Given the description of an element on the screen output the (x, y) to click on. 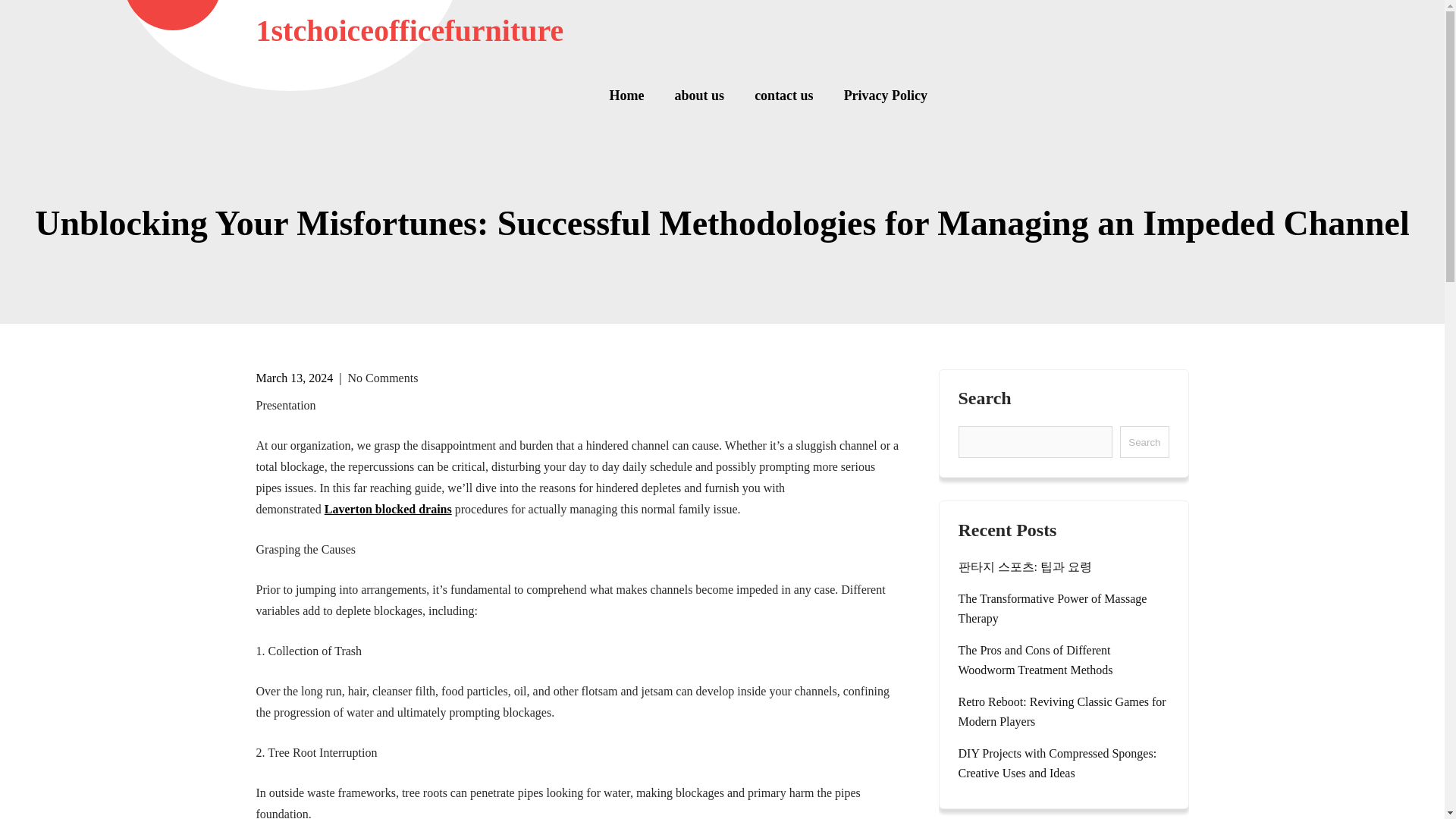
about us (699, 95)
Retro Reboot: Reviving Classic Games for Modern Players (1063, 712)
Laverton blocked drains (387, 508)
Search (1144, 441)
contact us (783, 95)
Privacy Policy (877, 95)
No Comments (382, 377)
1stchoiceofficefurniture (410, 30)
The Transformative Power of Massage Therapy (1063, 608)
The Pros and Cons of Different Woodworm Treatment Methods (1063, 660)
